Given the description of an element on the screen output the (x, y) to click on. 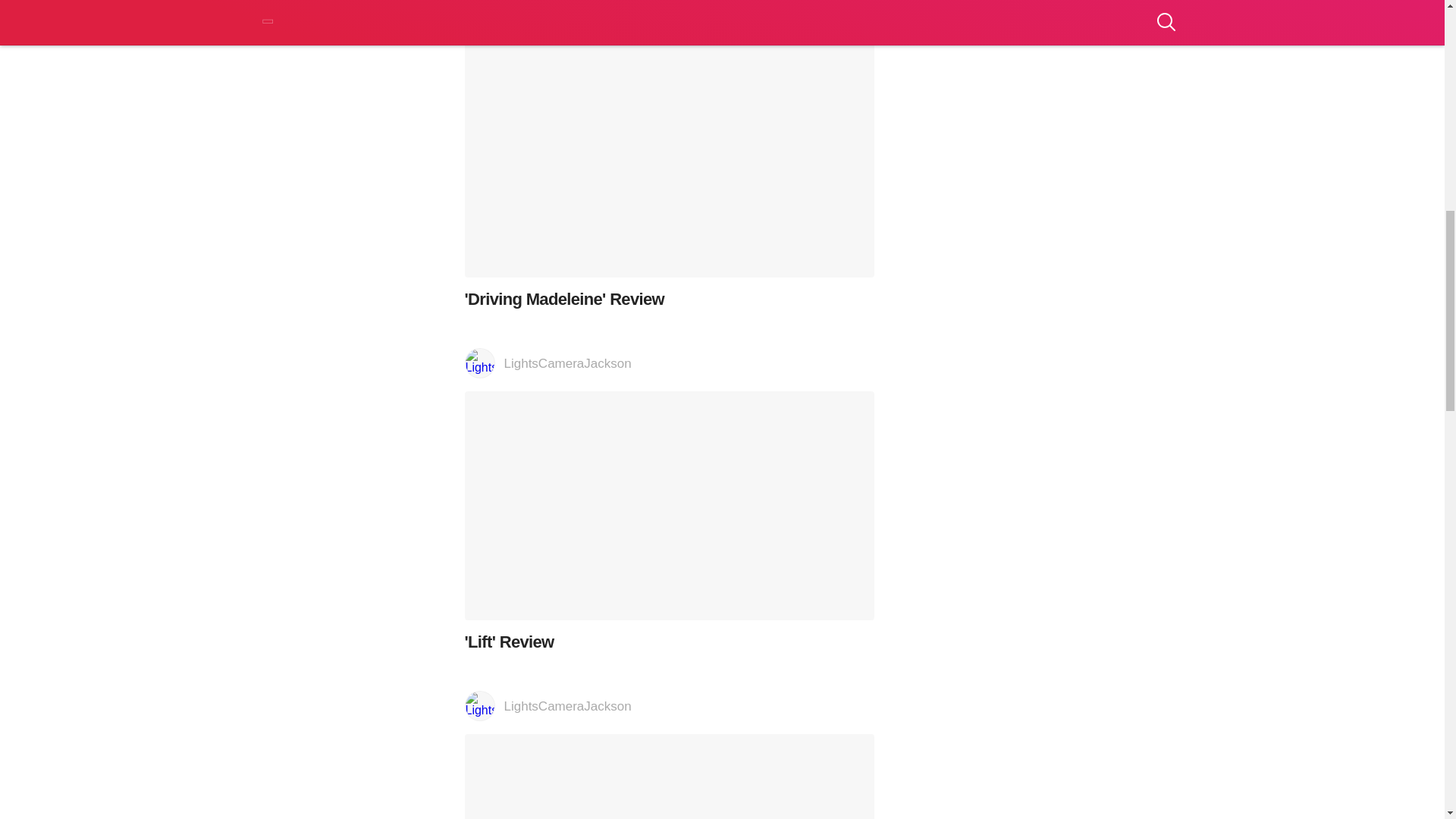
'Lift' Review (668, 521)
LightsCameraJackson (668, 706)
'Driving Madeleine' Review (668, 170)
LightsCameraJackson (668, 10)
LightsCameraJackson (668, 364)
'Ferrari' Review (668, 776)
